Given the description of an element on the screen output the (x, y) to click on. 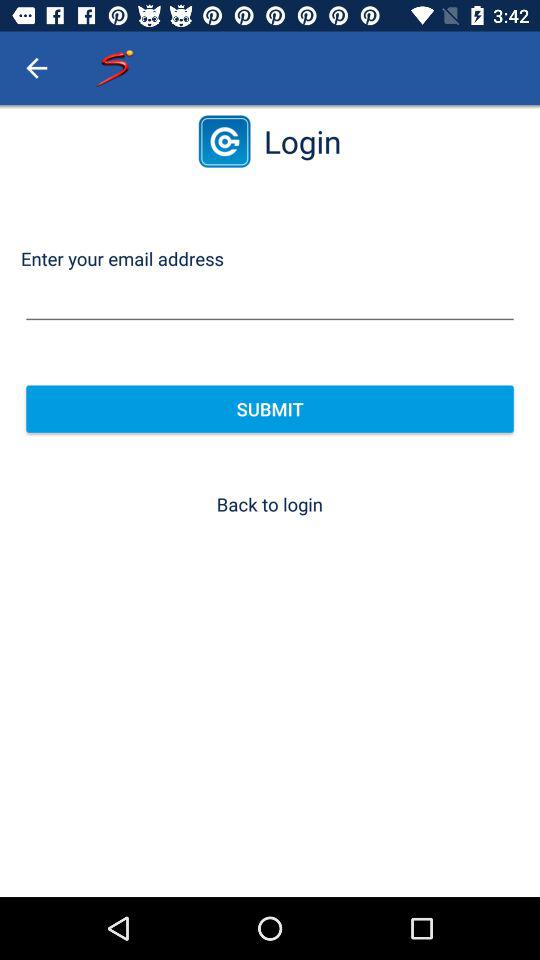
turn off the item above the back to login item (270, 408)
